Given the description of an element on the screen output the (x, y) to click on. 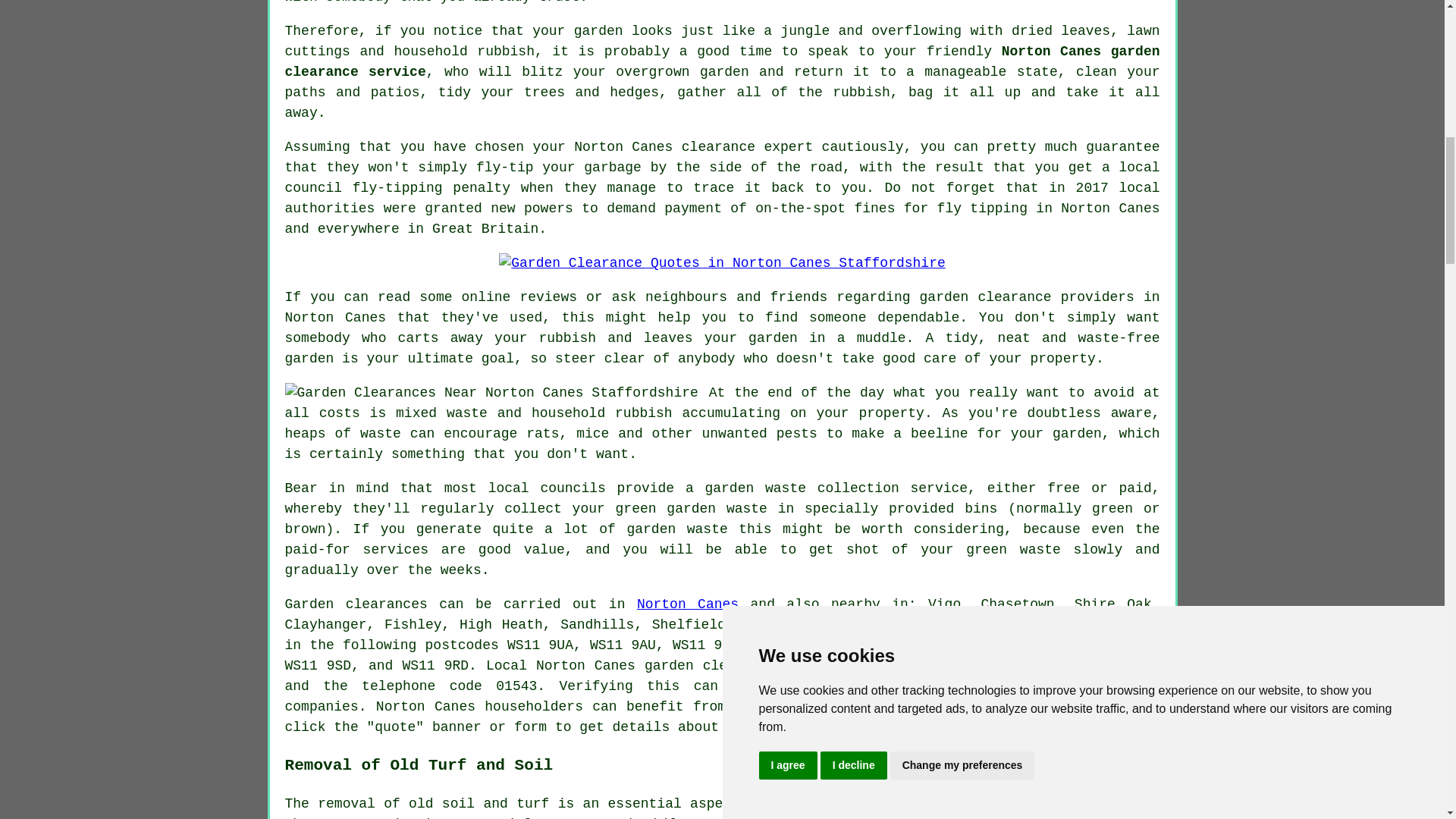
garden (309, 358)
rubbish (566, 337)
Norton Canes garden clearance service (722, 61)
Garden Clearances Near Norton Canes Staffordshire (491, 393)
Garden Clearance Quotes in Norton Canes Staffordshire (721, 263)
